Given the description of an element on the screen output the (x, y) to click on. 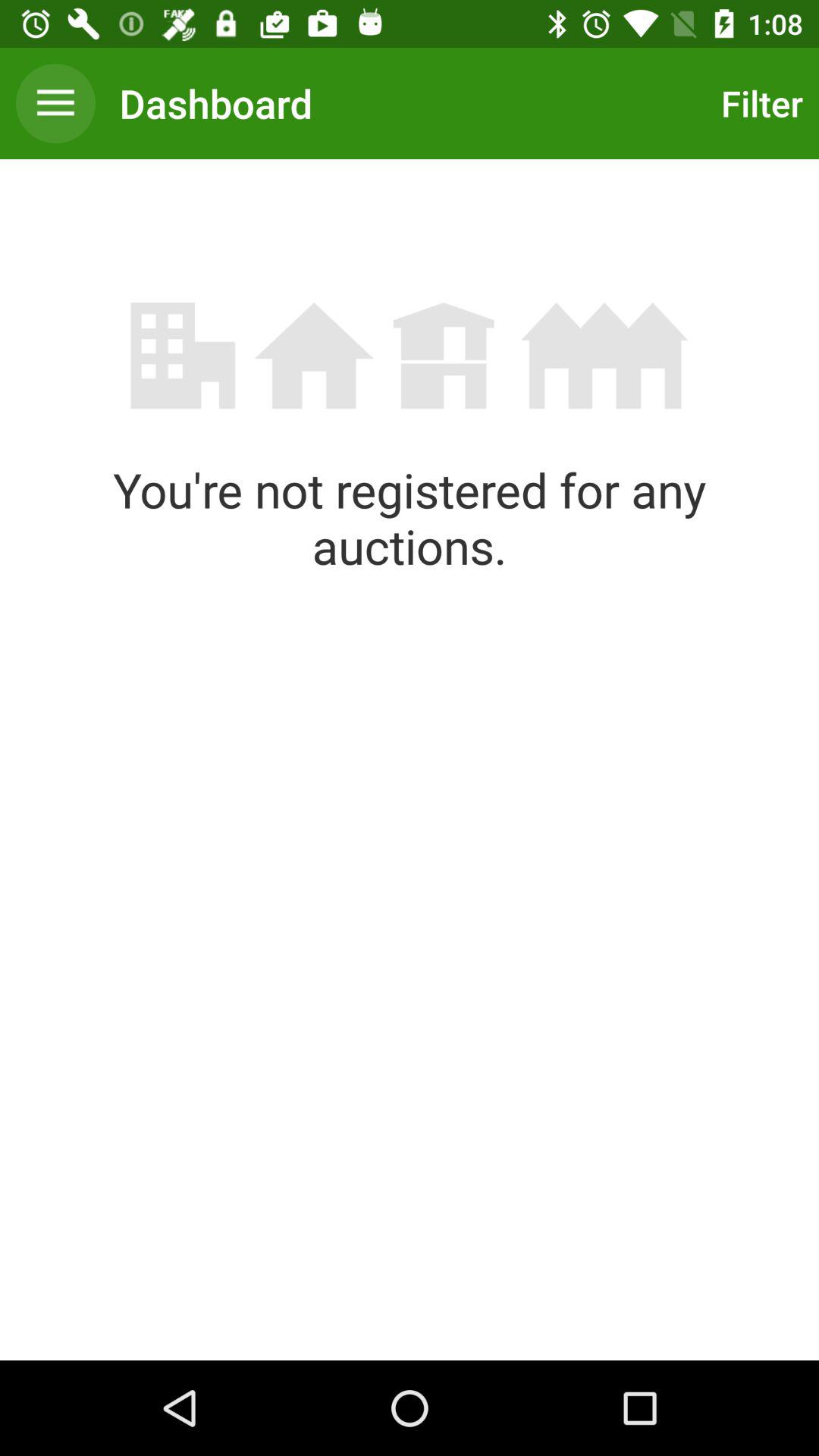
tap the item next to dashboard item (55, 103)
